Given the description of an element on the screen output the (x, y) to click on. 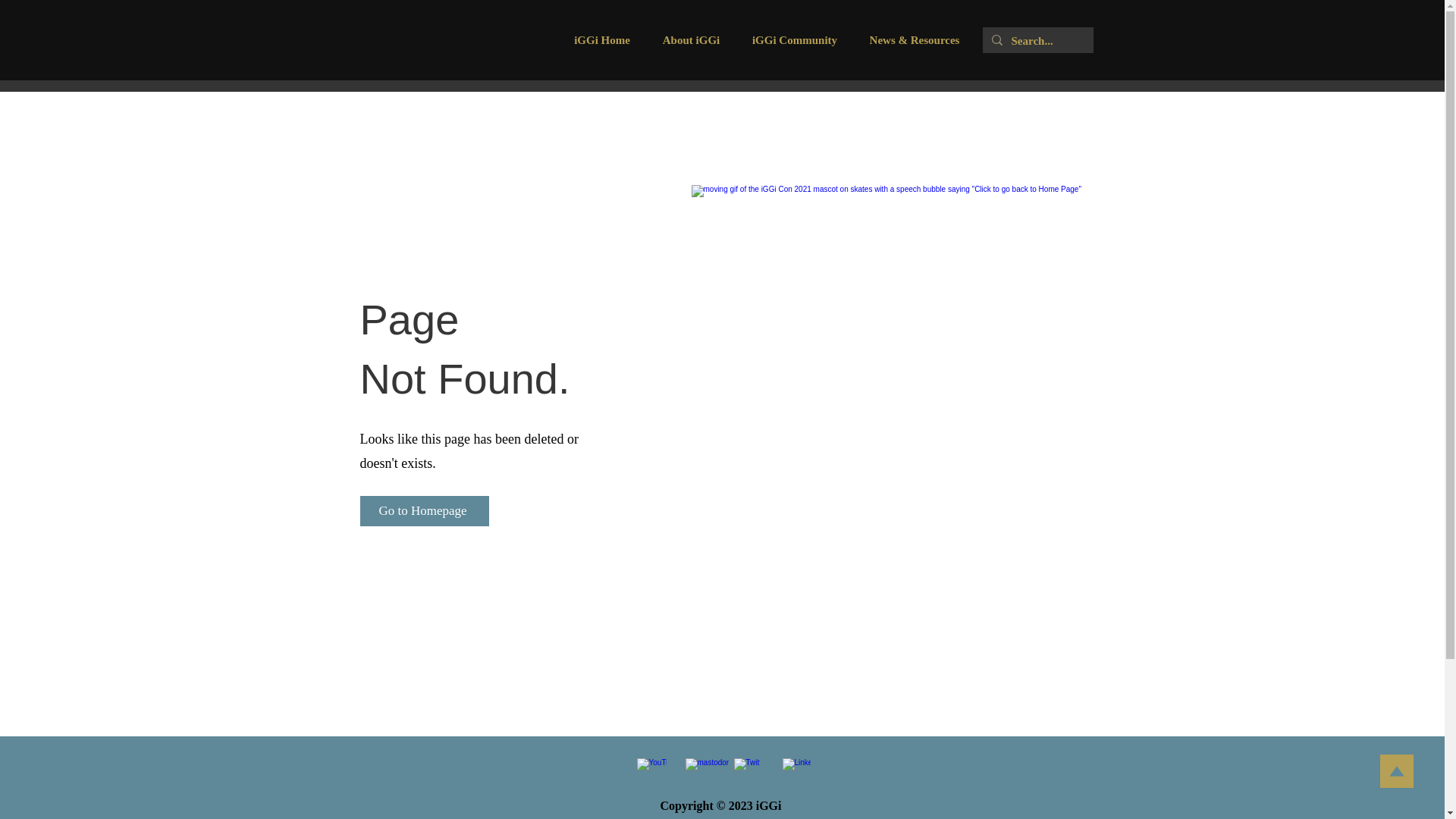
Privacy Policy (721, 818)
iGGi Home (601, 45)
Go to Homepage (423, 511)
